Given the description of an element on the screen output the (x, y) to click on. 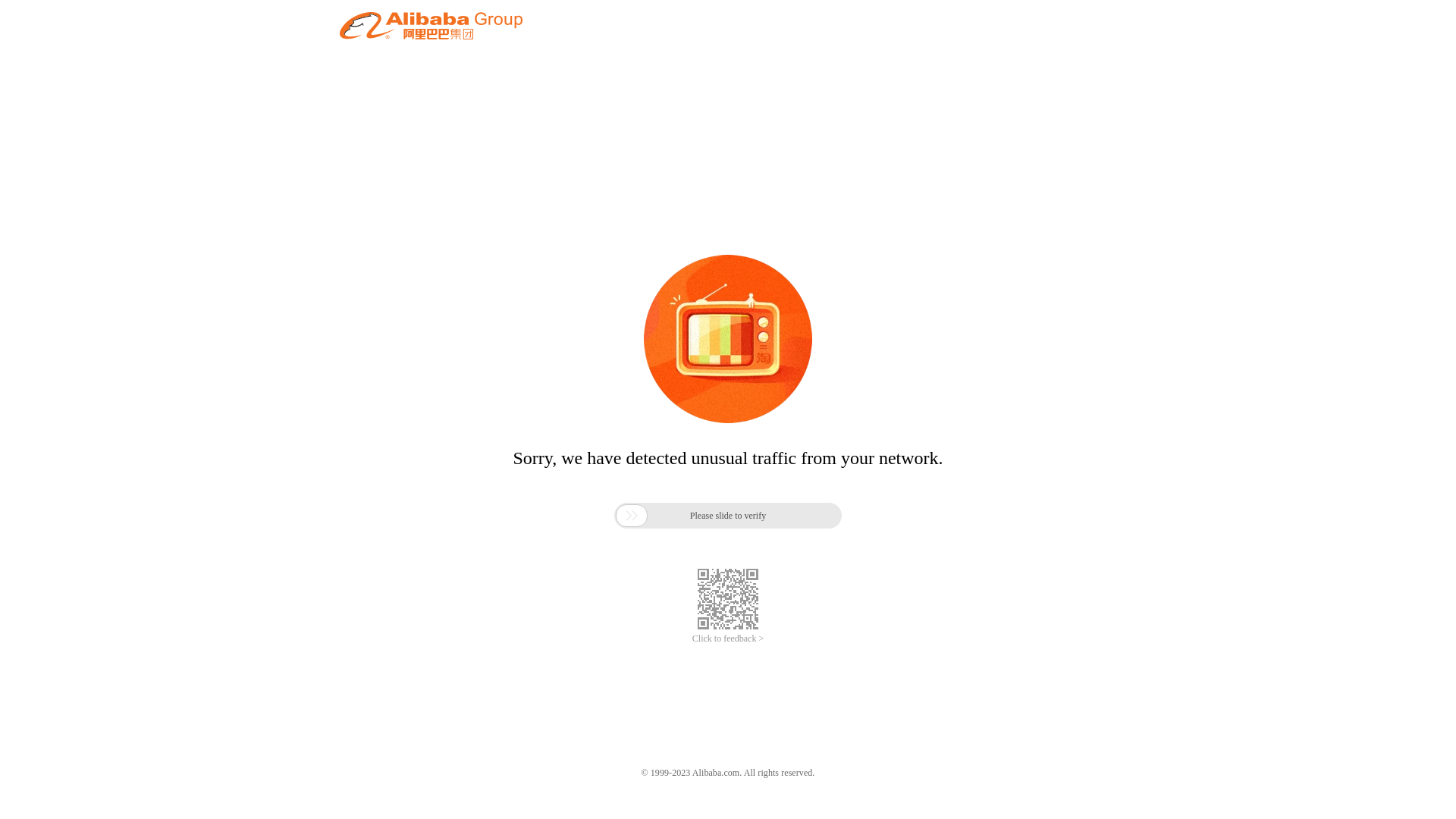
Click to feedback > Element type: text (727, 638)
